Given the description of an element on the screen output the (x, y) to click on. 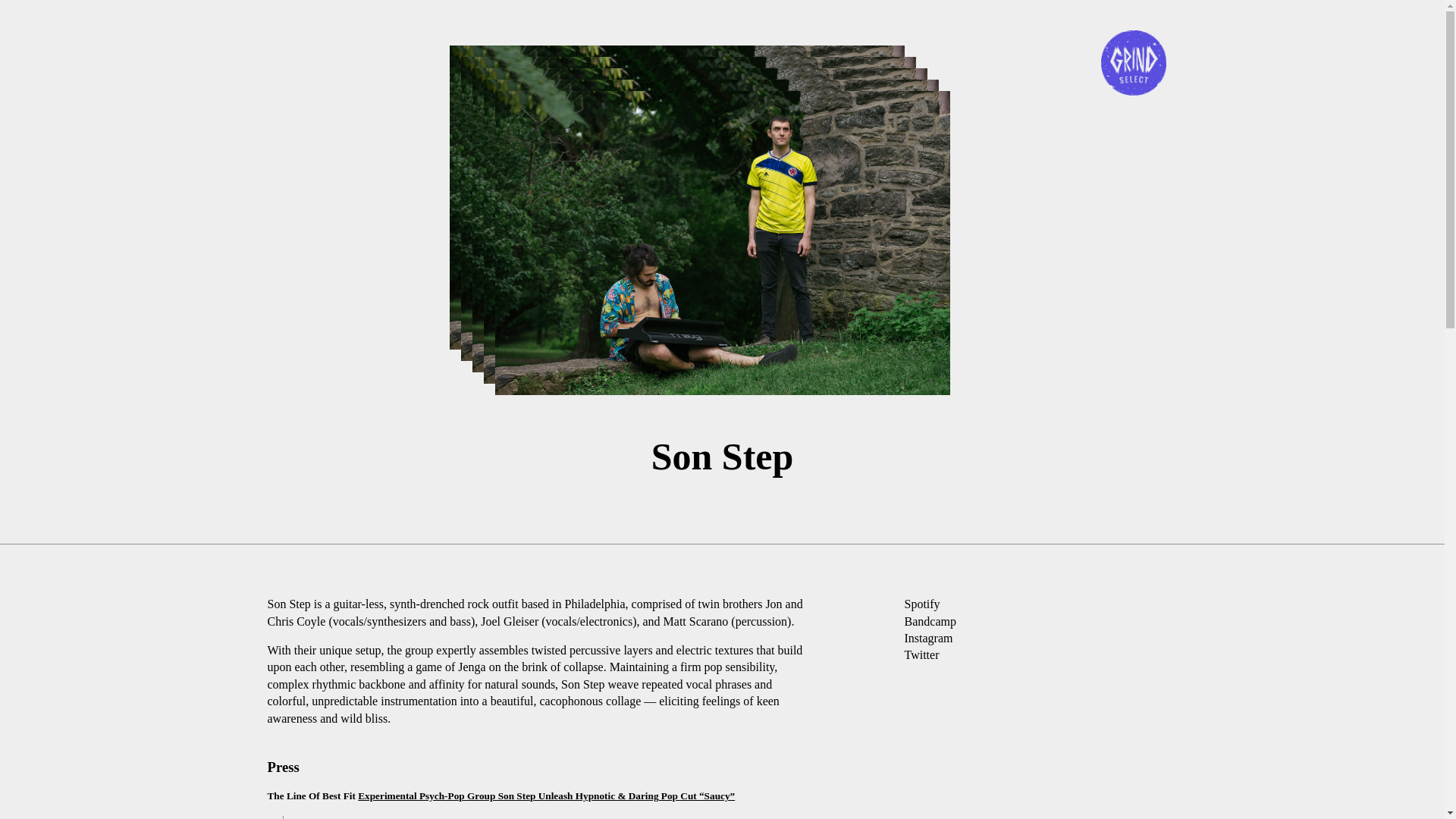
Spotify (922, 603)
Bandcamp (930, 621)
Twitter (922, 654)
Instagram (928, 638)
